Given the description of an element on the screen output the (x, y) to click on. 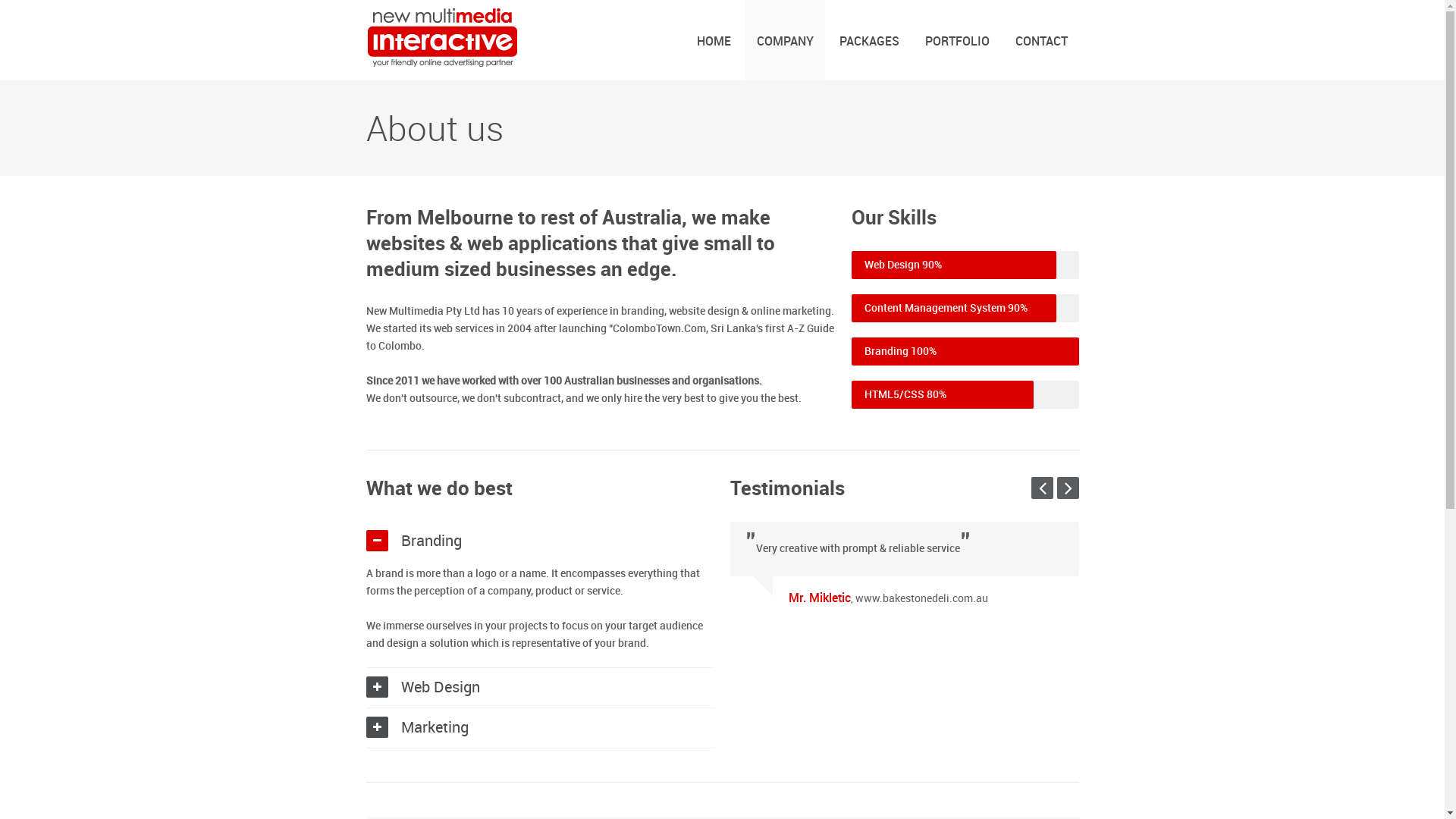
Web Design Element type: text (439, 687)
Branding Element type: text (430, 541)
Mr. Mikletic Element type: text (819, 598)
Marketing Element type: text (433, 727)
